Given the description of an element on the screen output the (x, y) to click on. 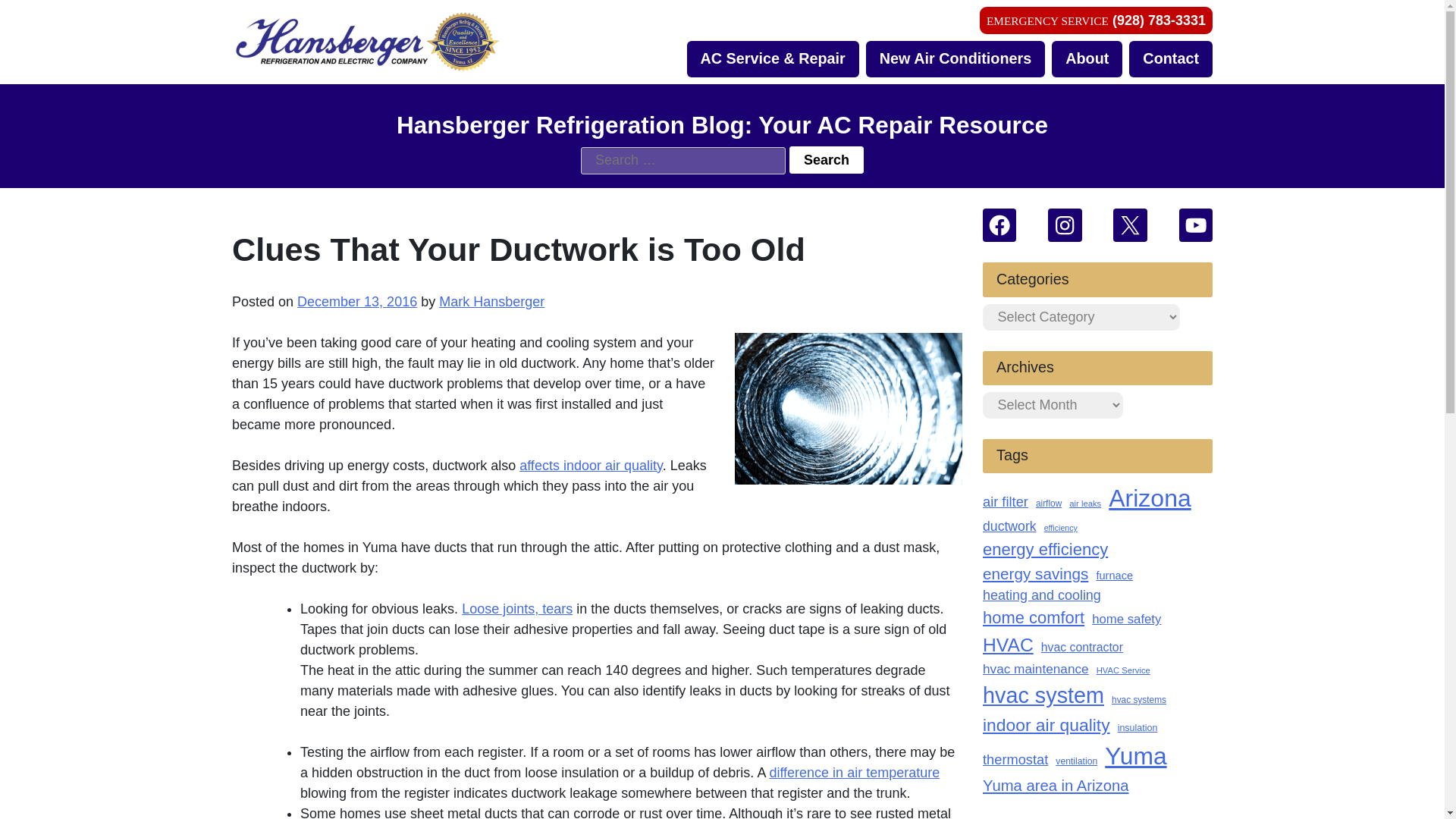
Facebook (999, 224)
YouTube (1195, 224)
Hansberger Refrigeration Blog: Your AC Repair Resource (173, 93)
difference in air temperature (853, 772)
efficiency (1060, 527)
X (1130, 224)
air leaks (1084, 503)
About (1086, 58)
Loose joints, tears (516, 608)
Instagram (1064, 224)
airflow (1048, 504)
ductwork (1009, 526)
Arizona (1149, 497)
air filter (1004, 501)
New Air Conditioners (955, 58)
